Given the description of an element on the screen output the (x, y) to click on. 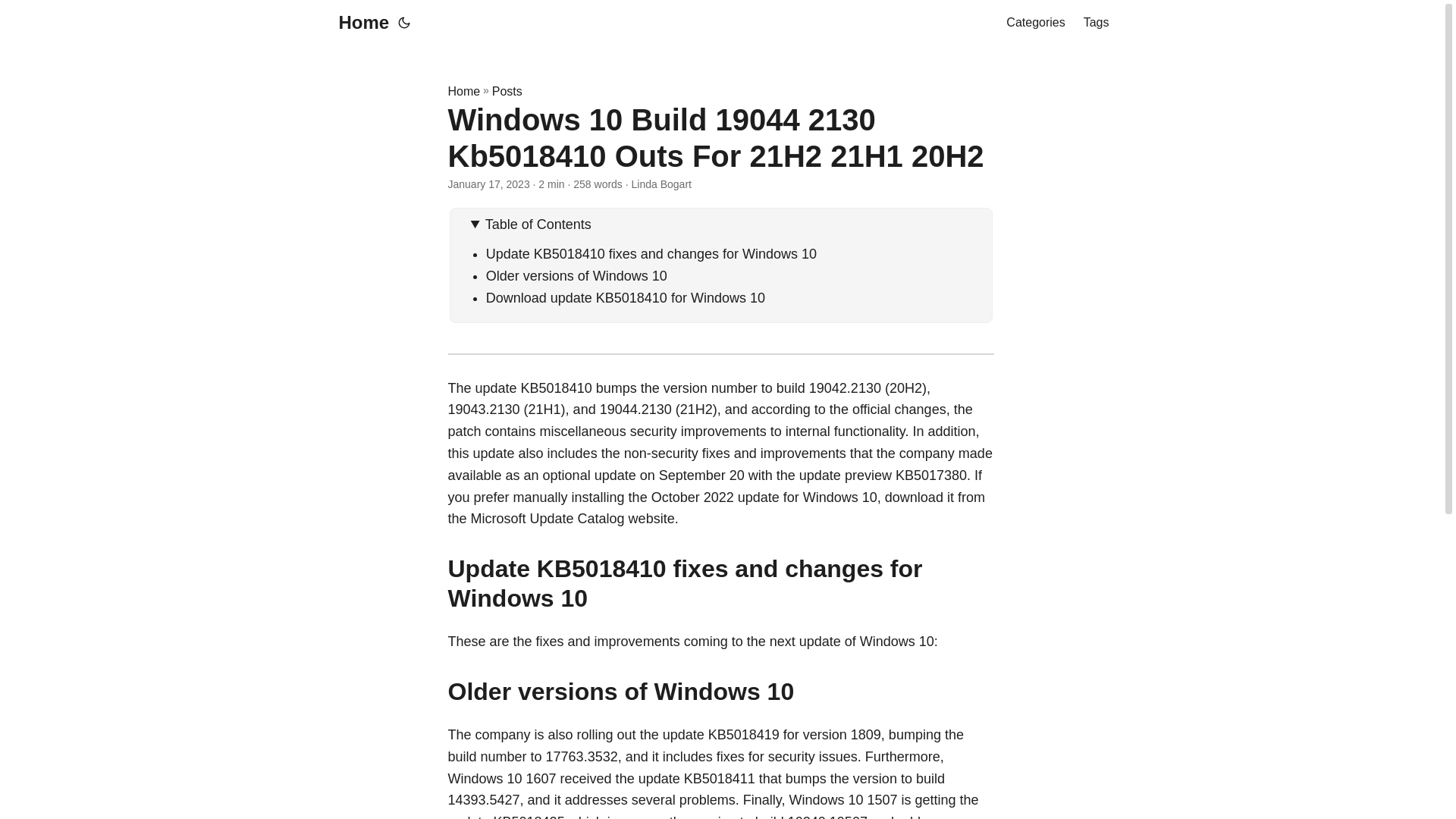
Update KB5018410 fixes and changes for Windows 10 (651, 253)
Home (359, 22)
Older versions of Windows 10 (576, 275)
Home (463, 91)
Categories (1035, 22)
Categories (1035, 22)
Download update KB5018410 for Windows 10 (625, 297)
Posts (507, 91)
